Given the description of an element on the screen output the (x, y) to click on. 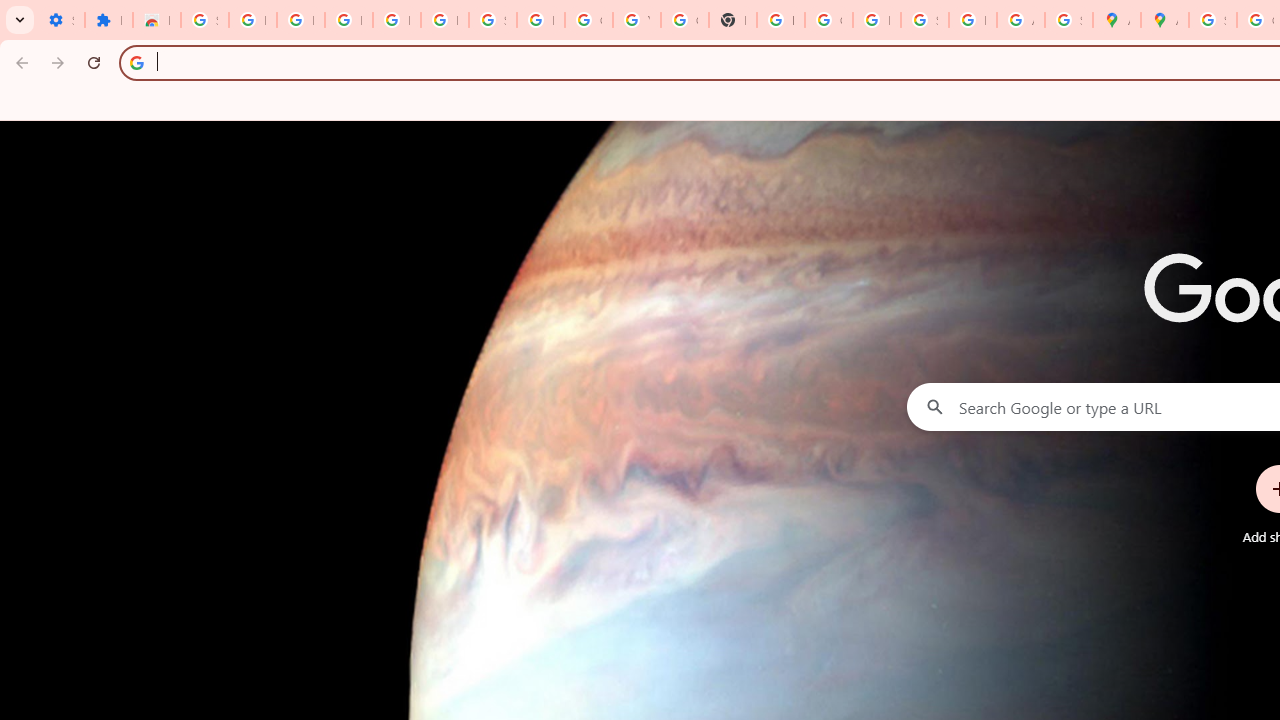
New Tab (732, 20)
Settings - On startup (60, 20)
Sign in - Google Accounts (492, 20)
https://scholar.google.com/ (780, 20)
Sign in - Google Accounts (204, 20)
Learn how to find your photos - Google Photos Help (396, 20)
